Given the description of an element on the screen output the (x, y) to click on. 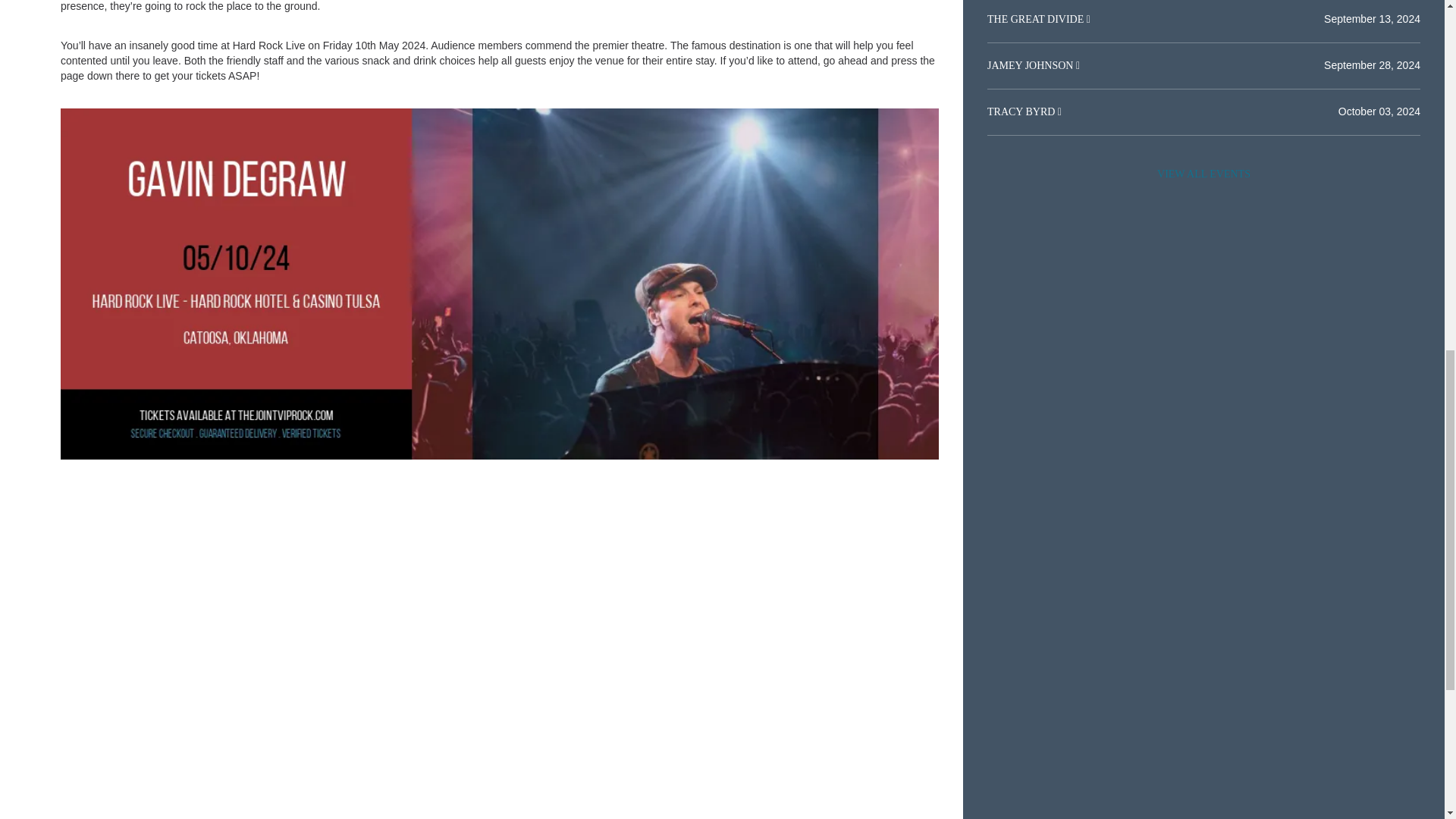
VIEW ALL EVENTS (1203, 174)
JAMEY JOHNSON (1031, 65)
THE GREAT DIVIDE (1036, 19)
